Given the description of an element on the screen output the (x, y) to click on. 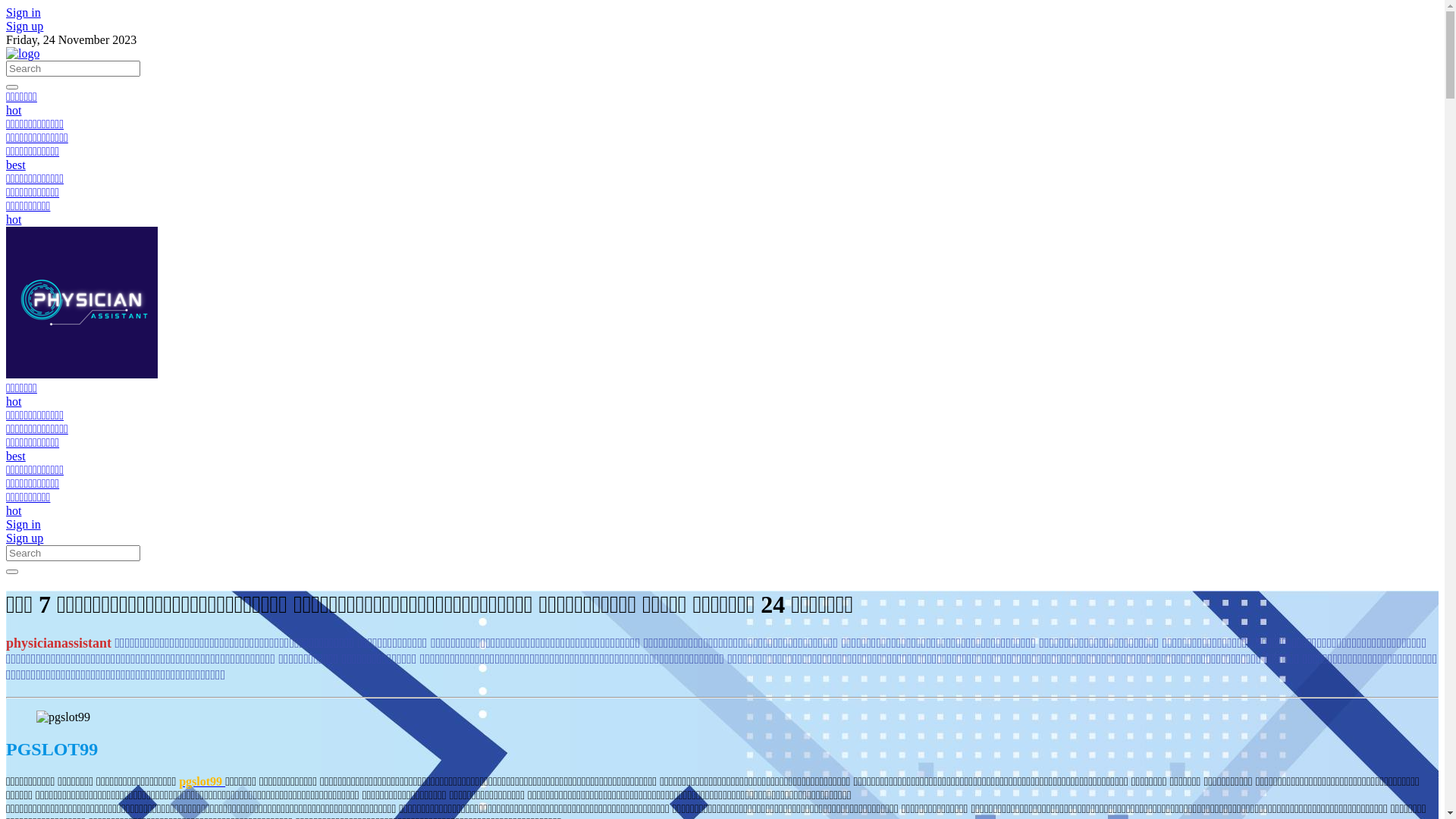
Sign in Element type: text (23, 523)
Sign up Element type: text (24, 537)
Sign in Element type: text (23, 12)
Sign up Element type: text (24, 25)
pgslot99 Element type: text (201, 781)
